Given the description of an element on the screen output the (x, y) to click on. 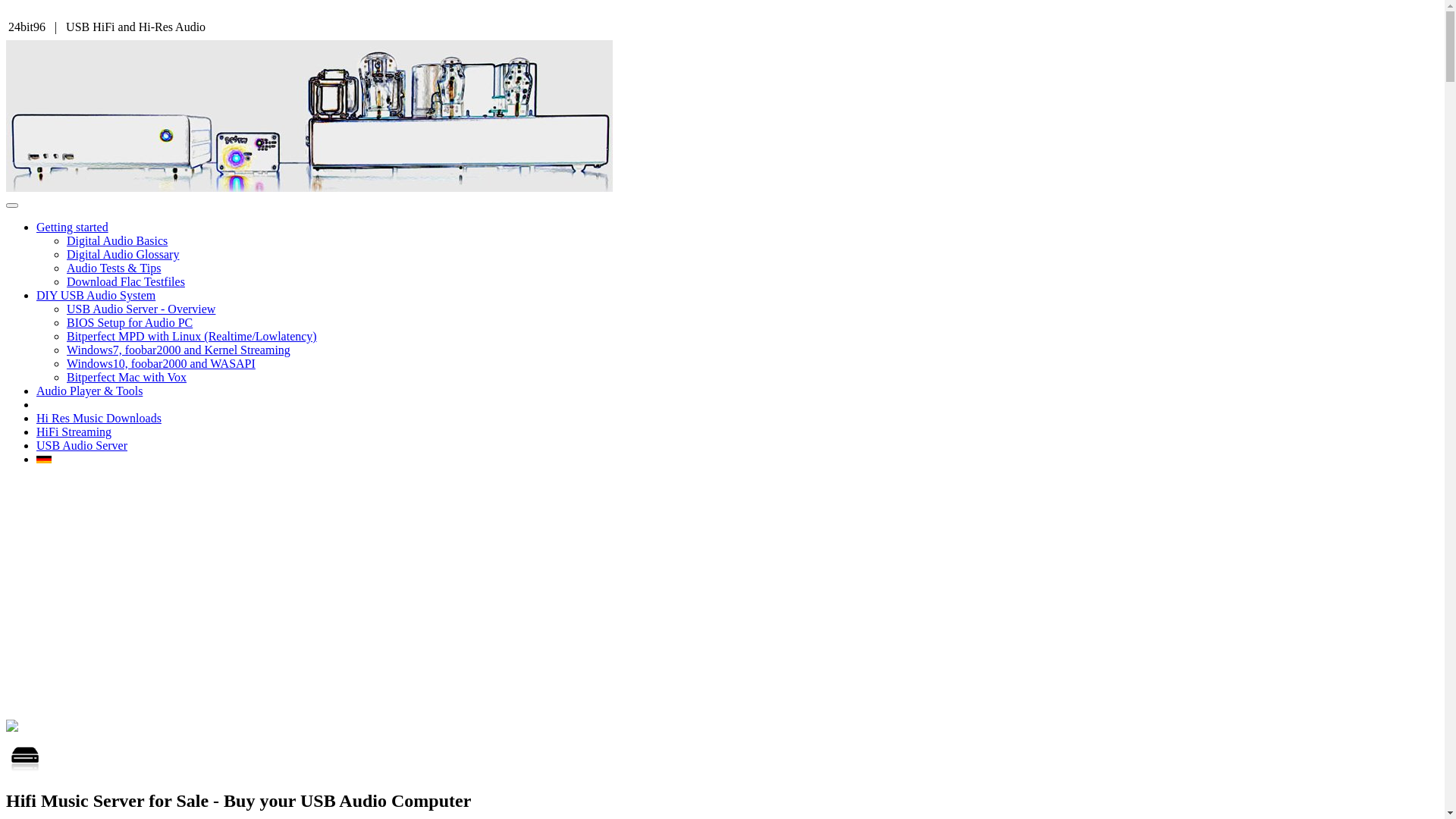
BIOS Setup for Audio PC Element type: text (129, 322)
Deutsche Version Element type: hover (43, 458)
Hi Res Music Downloads Element type: text (98, 417)
USB Audio Server Element type: text (81, 445)
Audio Tests & Tips Element type: text (113, 267)
Bitperfect Mac with Vox Element type: text (126, 376)
USB Audio Server - Overview Element type: text (140, 308)
Digital Audio Glossary Element type: text (122, 253)
Windows7, foobar2000 and Kernel Streaming Element type: text (178, 349)
Windows10, foobar2000 and WASAPI Element type: text (160, 363)
DIY USB Audio System Element type: text (95, 294)
Advertisement Element type: hover (721, 584)
Audio Player & Tools Element type: text (89, 390)
24bit96 hd audio and hi-res music - Main Page Element type: hover (309, 187)
HiFi Streaming Element type: text (73, 431)
Download Flac Testfiles Element type: text (125, 281)
Digital Audio Basics Element type: text (116, 240)
Getting started Element type: text (72, 226)
Bitperfect MPD with Linux (Realtime/Lowlatency) Element type: text (191, 335)
